Given the description of an element on the screen output the (x, y) to click on. 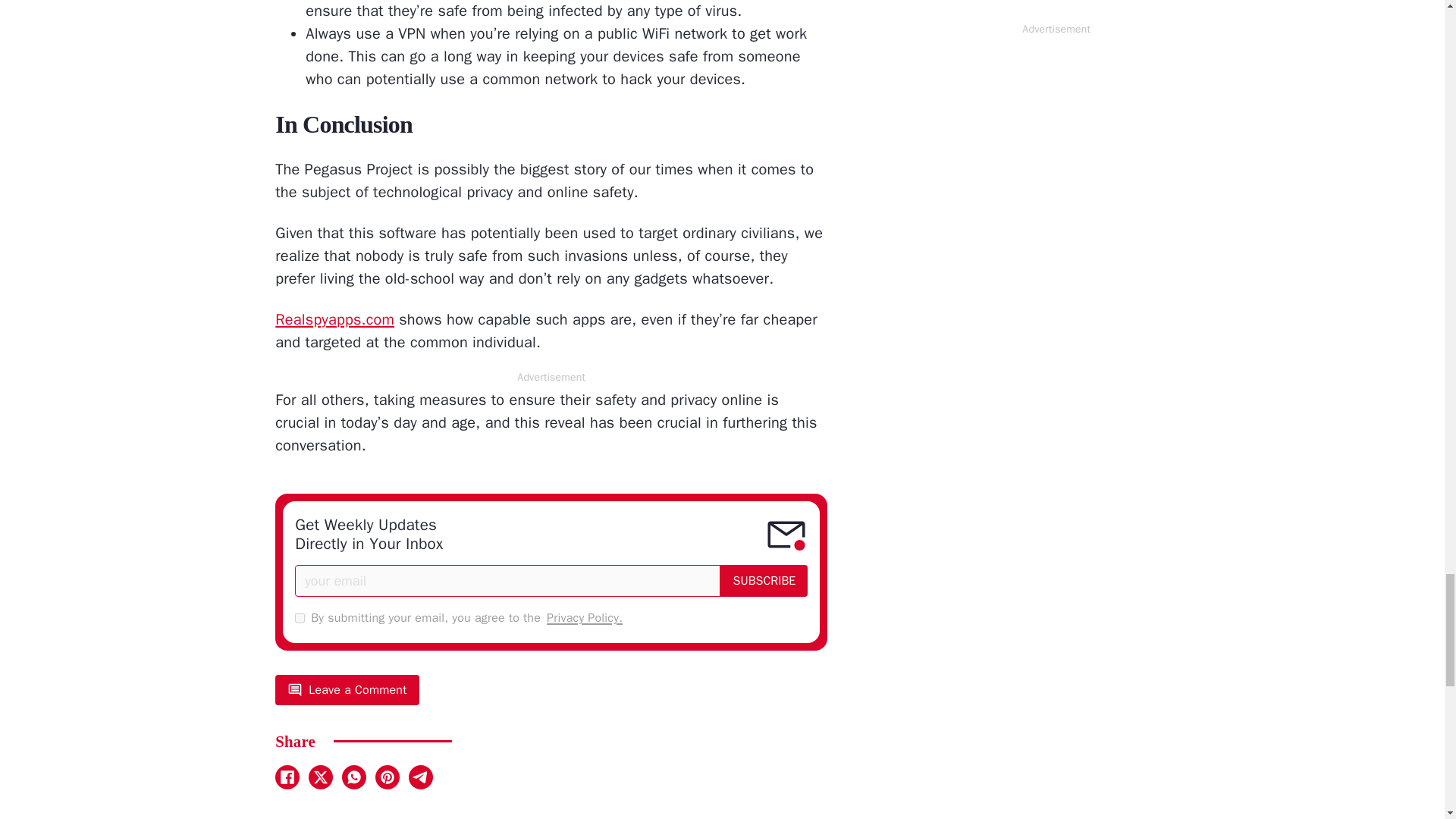
Realspyapps.com (334, 319)
SUBSCRIBE (764, 581)
Privacy Policy. (585, 618)
Leave a Comment (347, 689)
